Given the description of an element on the screen output the (x, y) to click on. 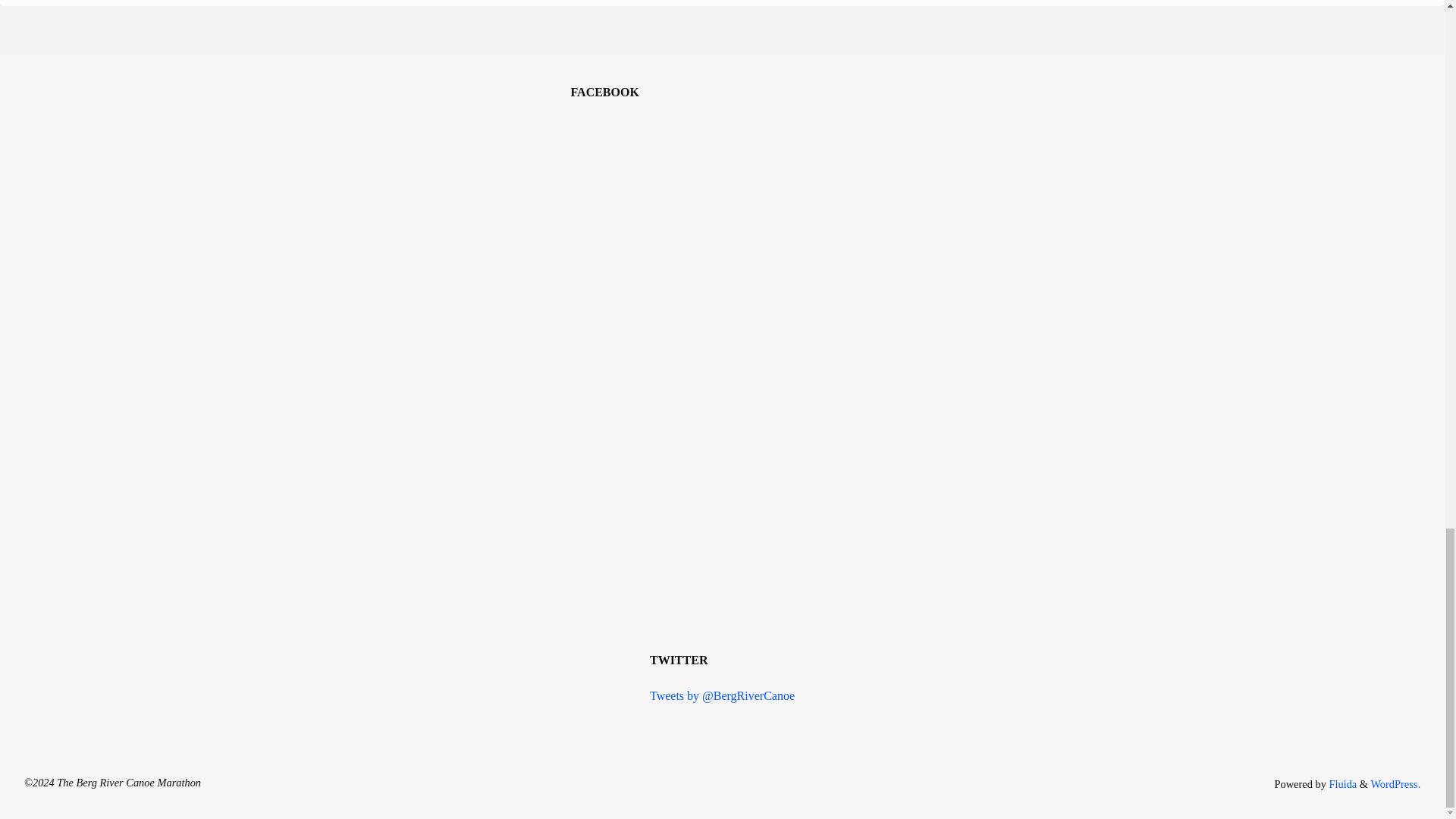
Semantic Personal Publishing Platform (1395, 784)
Fluida WordPress Theme by Cryout Creations (1341, 784)
